Given the description of an element on the screen output the (x, y) to click on. 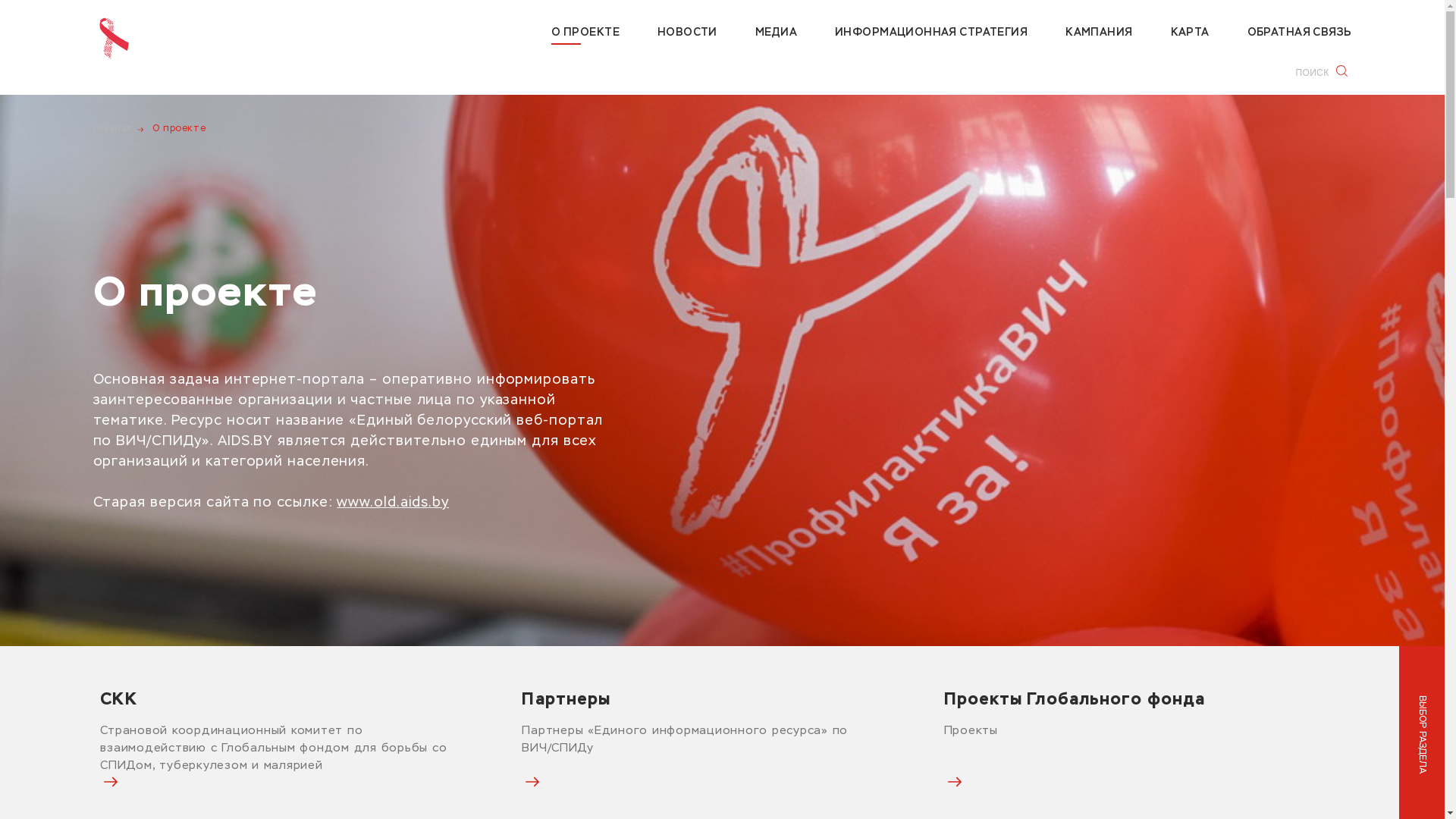
www.old.aids.by Element type: text (392, 502)
